Given the description of an element on the screen output the (x, y) to click on. 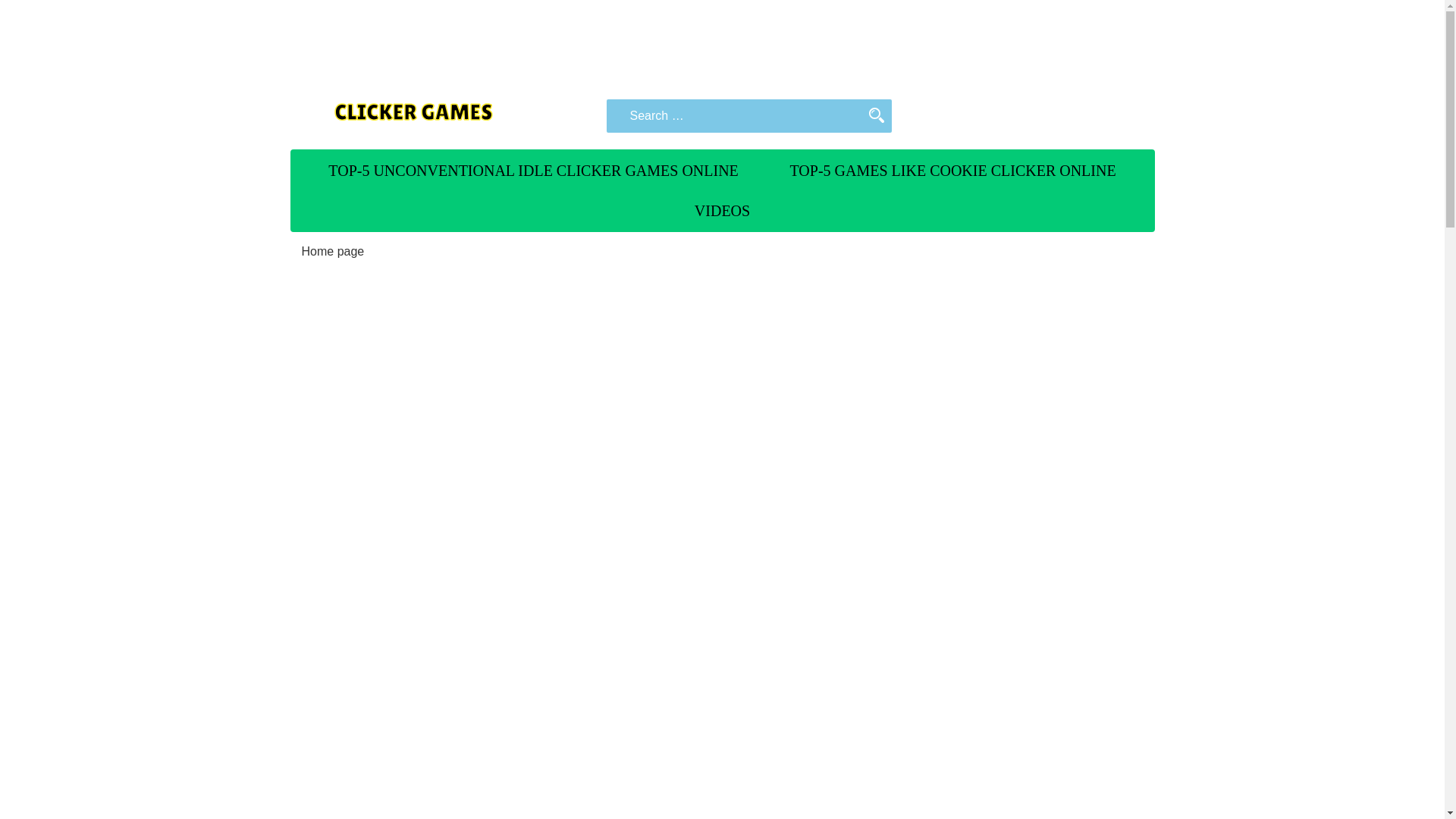
VIDEOS (721, 210)
TOP-5 UNCONVENTIONAL IDLE CLICKER GAMES ONLINE (533, 170)
TOP-5 GAMES LIKE COOKIE CLICKER ONLINE (951, 170)
Home page (333, 250)
